Given the description of an element on the screen output the (x, y) to click on. 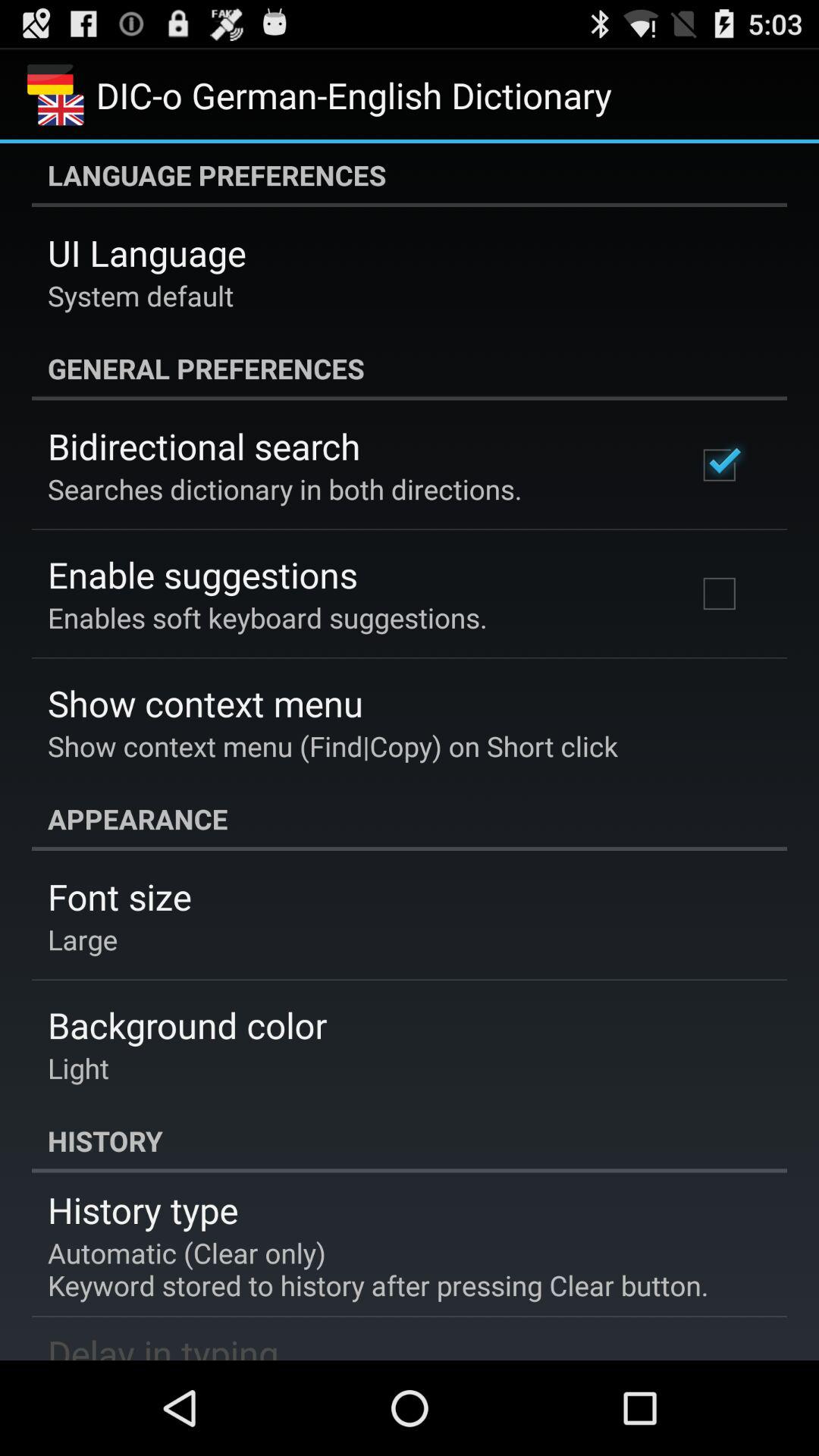
launch enables soft keyboard item (267, 617)
